Given the description of an element on the screen output the (x, y) to click on. 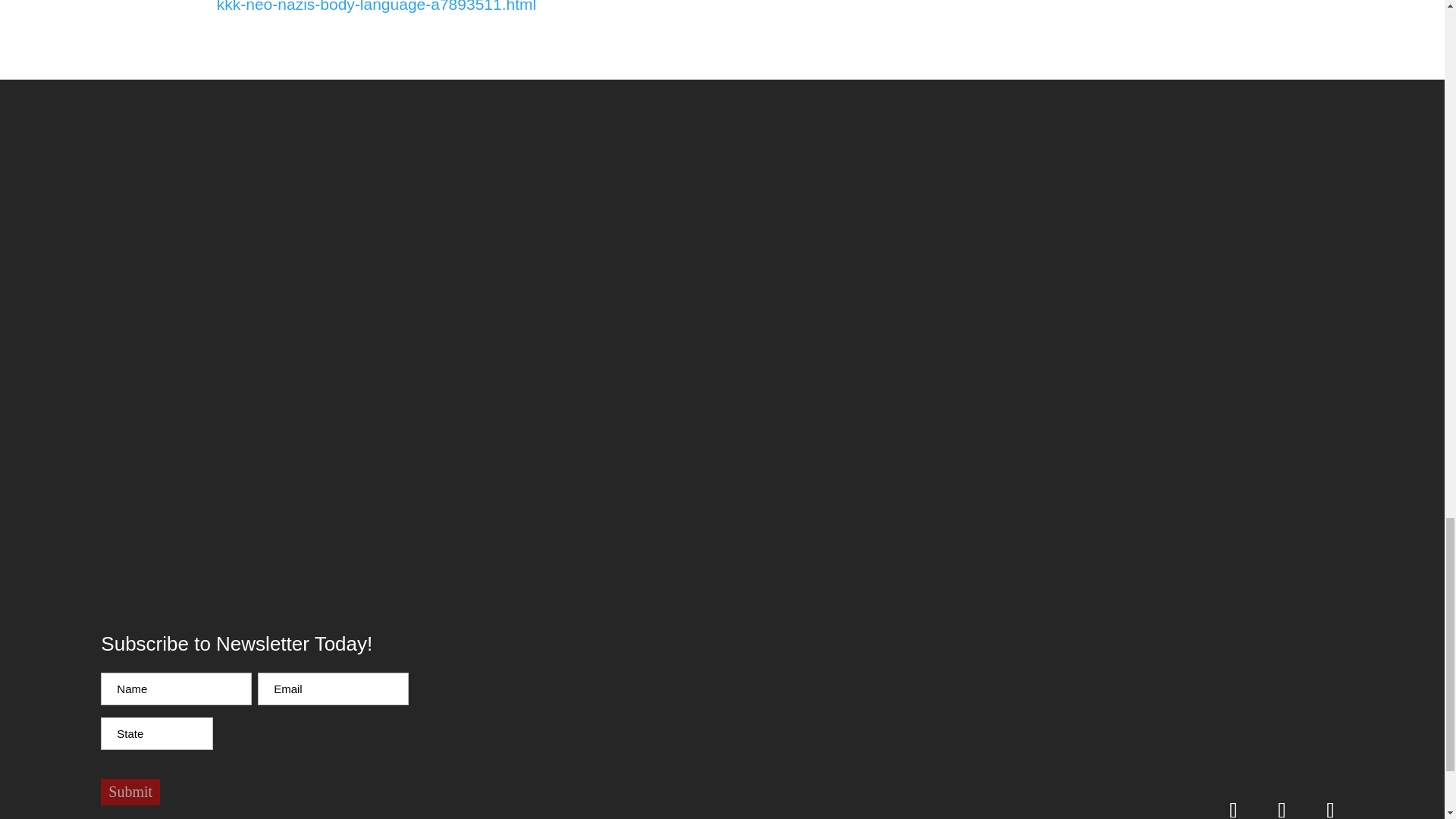
Follow on Facebook (1281, 804)
Submit (130, 791)
How to Spot a Liar Button (1008, 695)
Follow on Youtube (1233, 804)
Follow on Instagram (1330, 804)
